Given the description of an element on the screen output the (x, y) to click on. 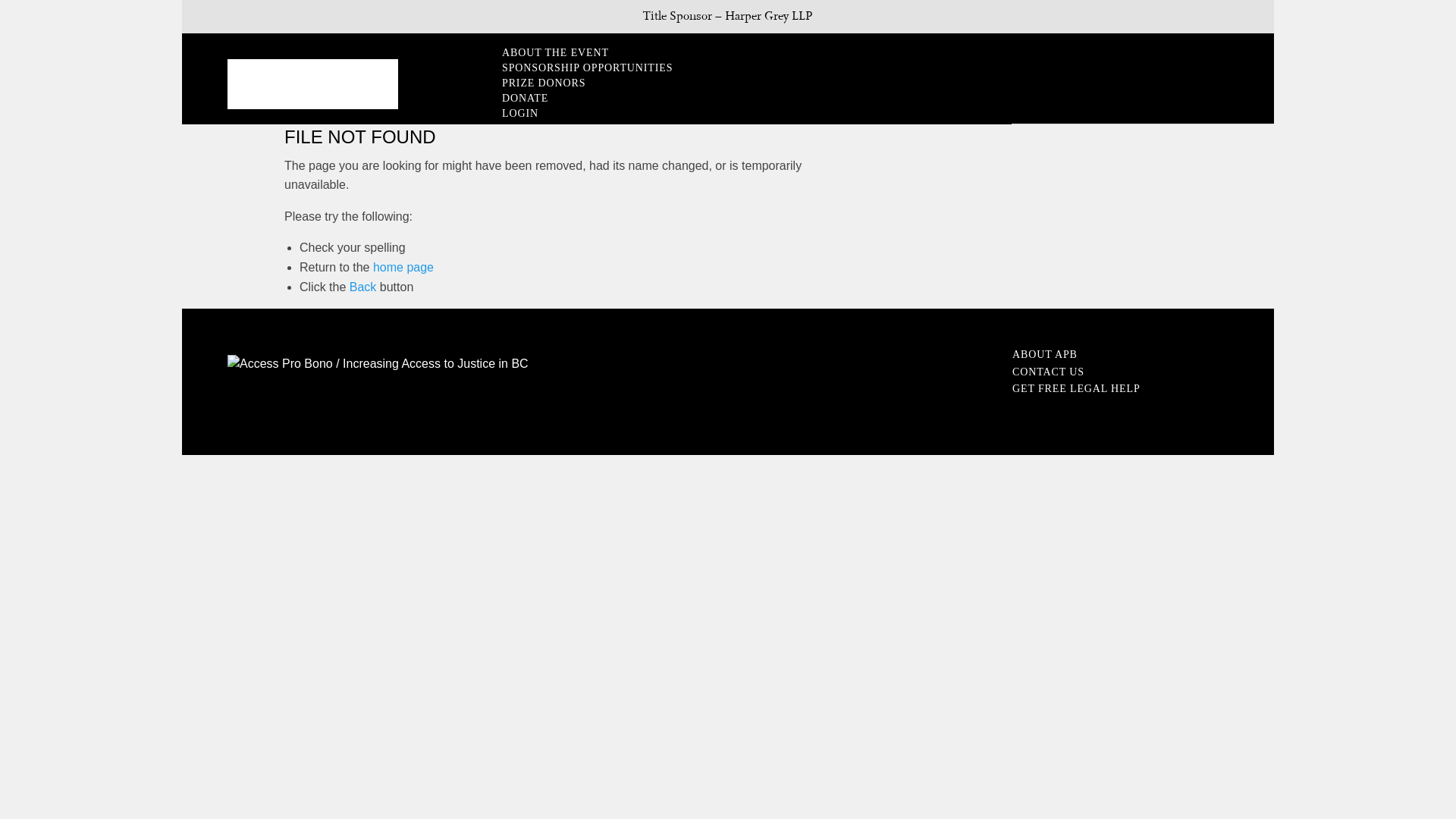
Access Pro Bono / Increasing Access to Justice in BC Element type: hover (377, 363)
GET FREE LEGAL HELP Element type: text (1076, 388)
SPONSORSHIP OPPORTUNITIES Element type: text (578, 65)
ABOUT THE EVENT Element type: text (578, 50)
DONATE Element type: text (578, 95)
Back Element type: text (362, 286)
CONTACT US Element type: text (1048, 371)
PRIZE DONORS Element type: text (578, 80)
home page Element type: text (403, 266)
ABOUT APB Element type: text (1044, 354)
LOGIN Element type: text (578, 111)
